Given the description of an element on the screen output the (x, y) to click on. 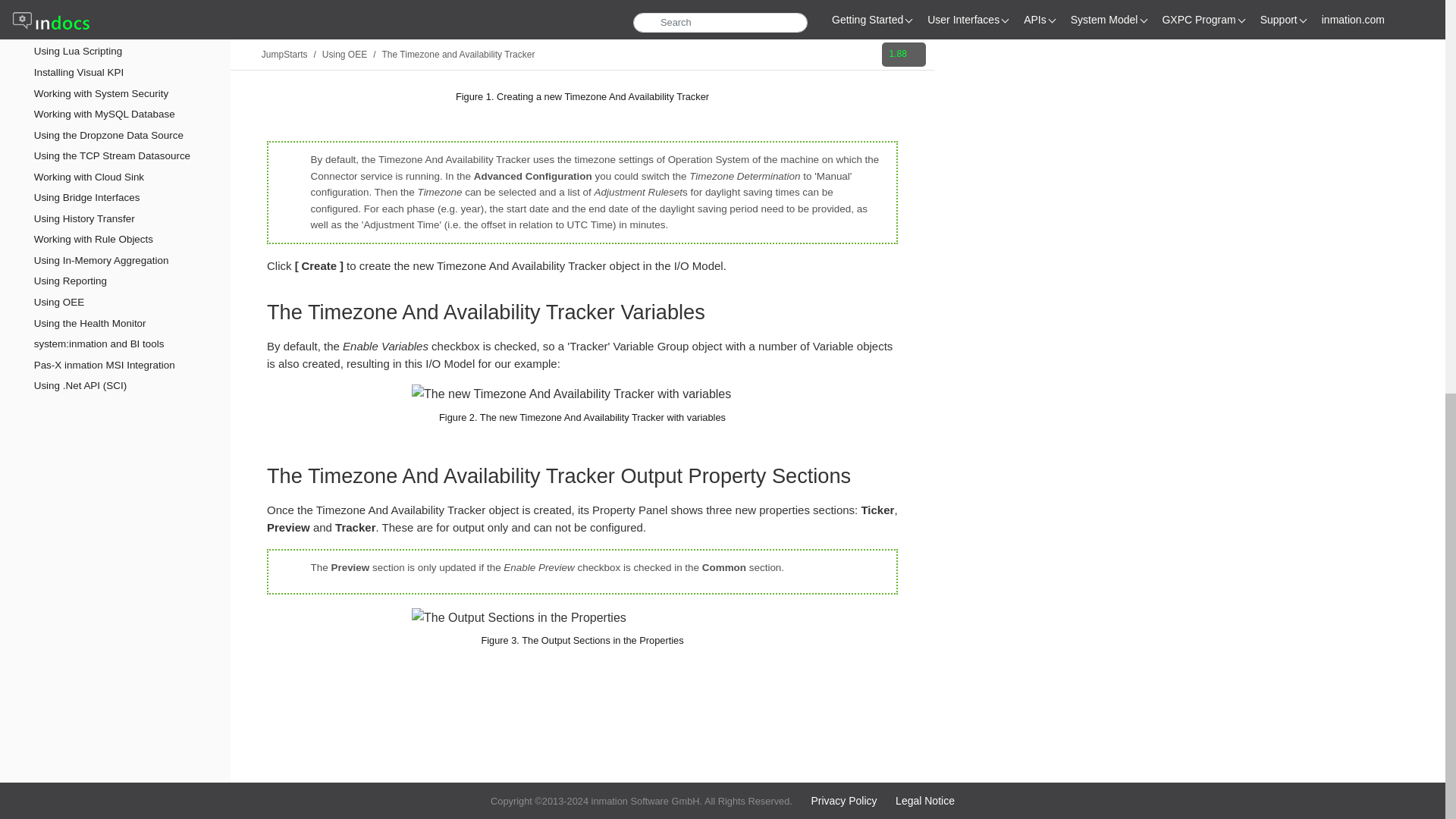
Note (287, 165)
Note (287, 573)
